Given the description of an element on the screen output the (x, y) to click on. 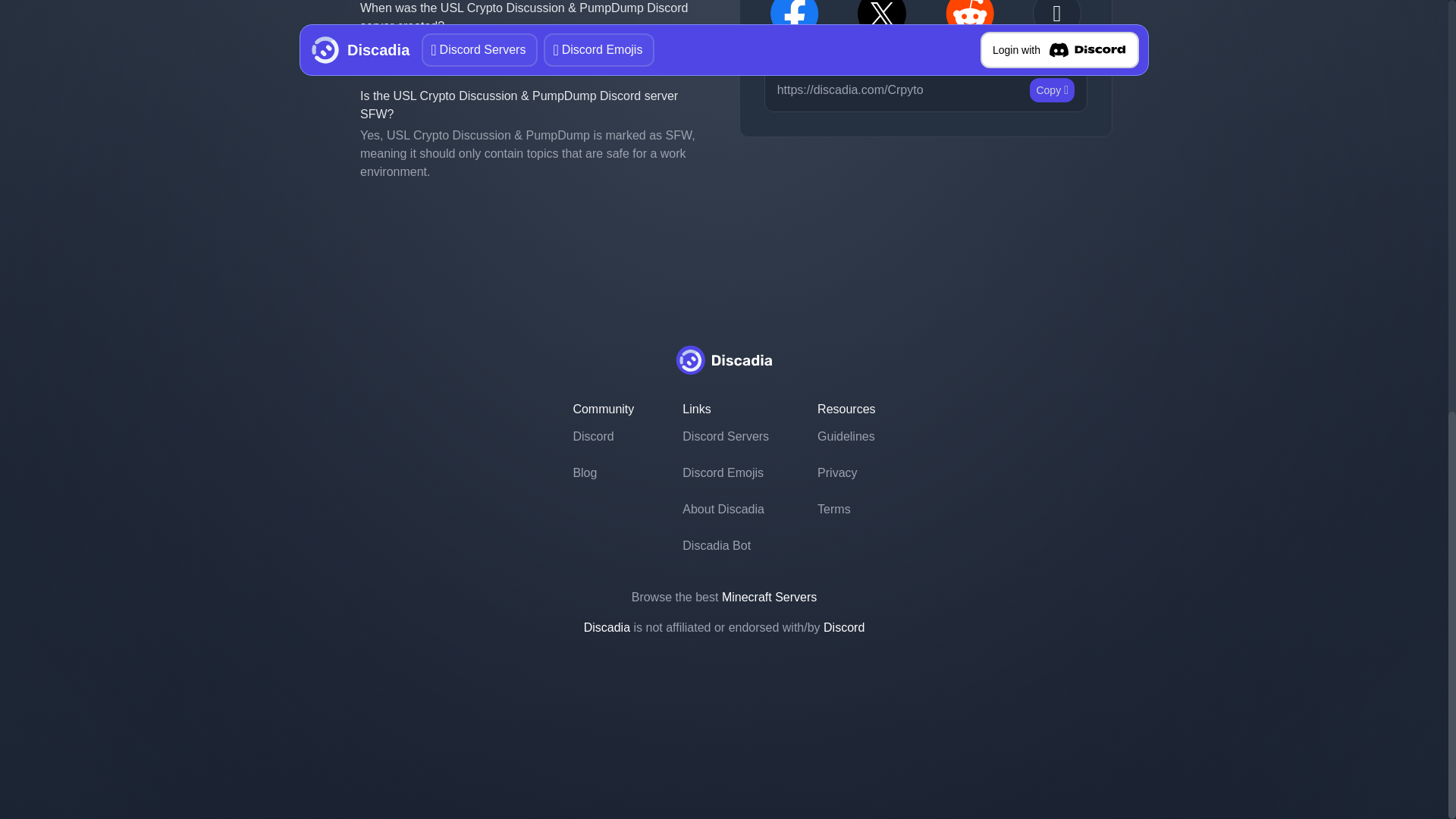
Guidelines (845, 436)
Discord (602, 436)
Blog (602, 473)
About Discadia (725, 509)
Discord (844, 626)
Discord Emojis (725, 473)
Terms (845, 509)
Discord Servers (725, 436)
Minecraft Servers (769, 596)
Discadia (606, 626)
